Given the description of an element on the screen output the (x, y) to click on. 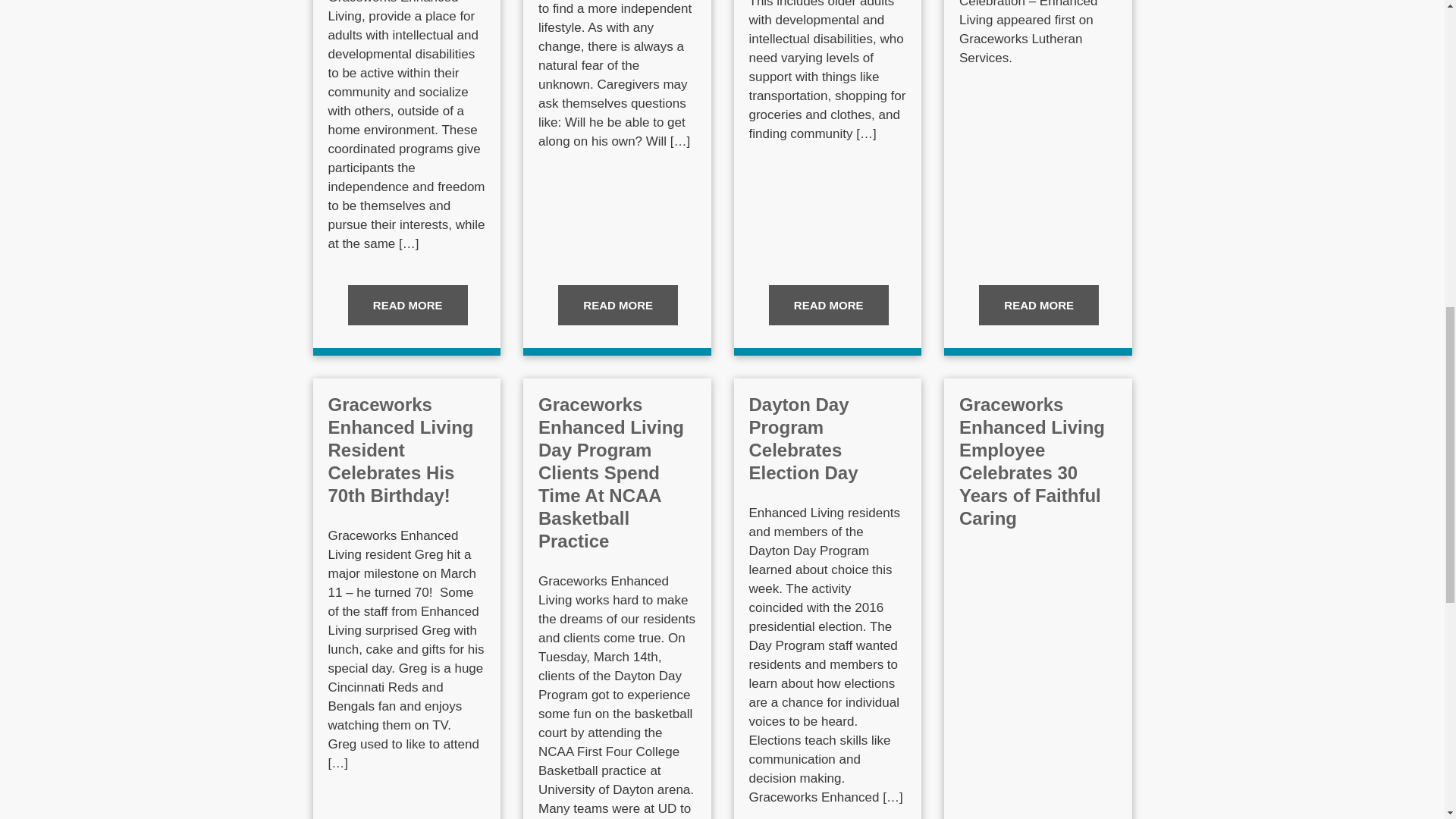
read post (617, 305)
Dayton Day Program Celebrates Election Day (804, 438)
READ MORE (828, 305)
read post (1039, 305)
READ MORE (407, 305)
READ MORE (617, 305)
read post (828, 305)
read post (407, 305)
